Given the description of an element on the screen output the (x, y) to click on. 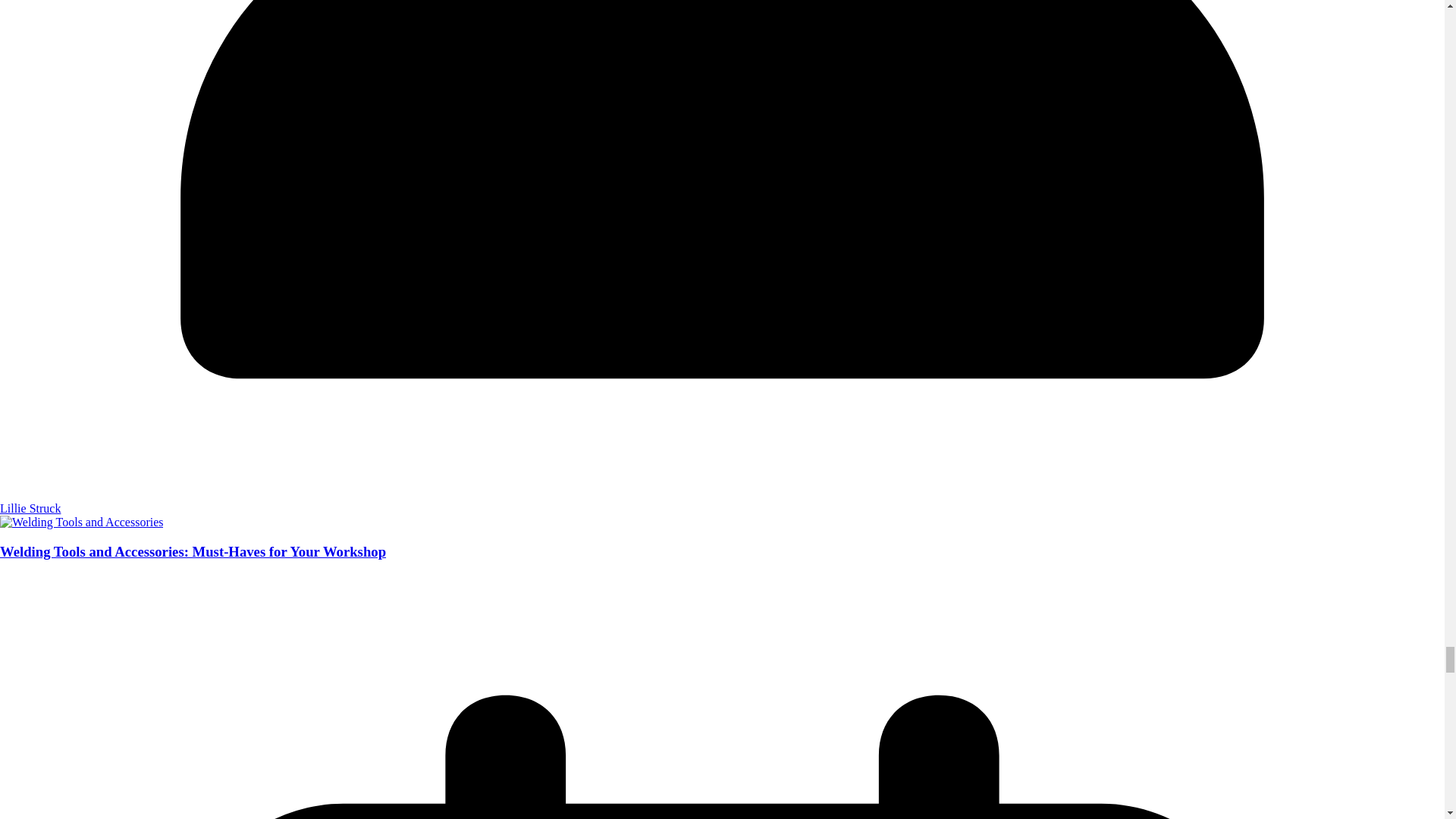
Lillie Struck (30, 508)
Lillie Struck (30, 508)
Welding Tools and Accessories: Must-Haves for Your Workshop (192, 551)
